Given the description of an element on the screen output the (x, y) to click on. 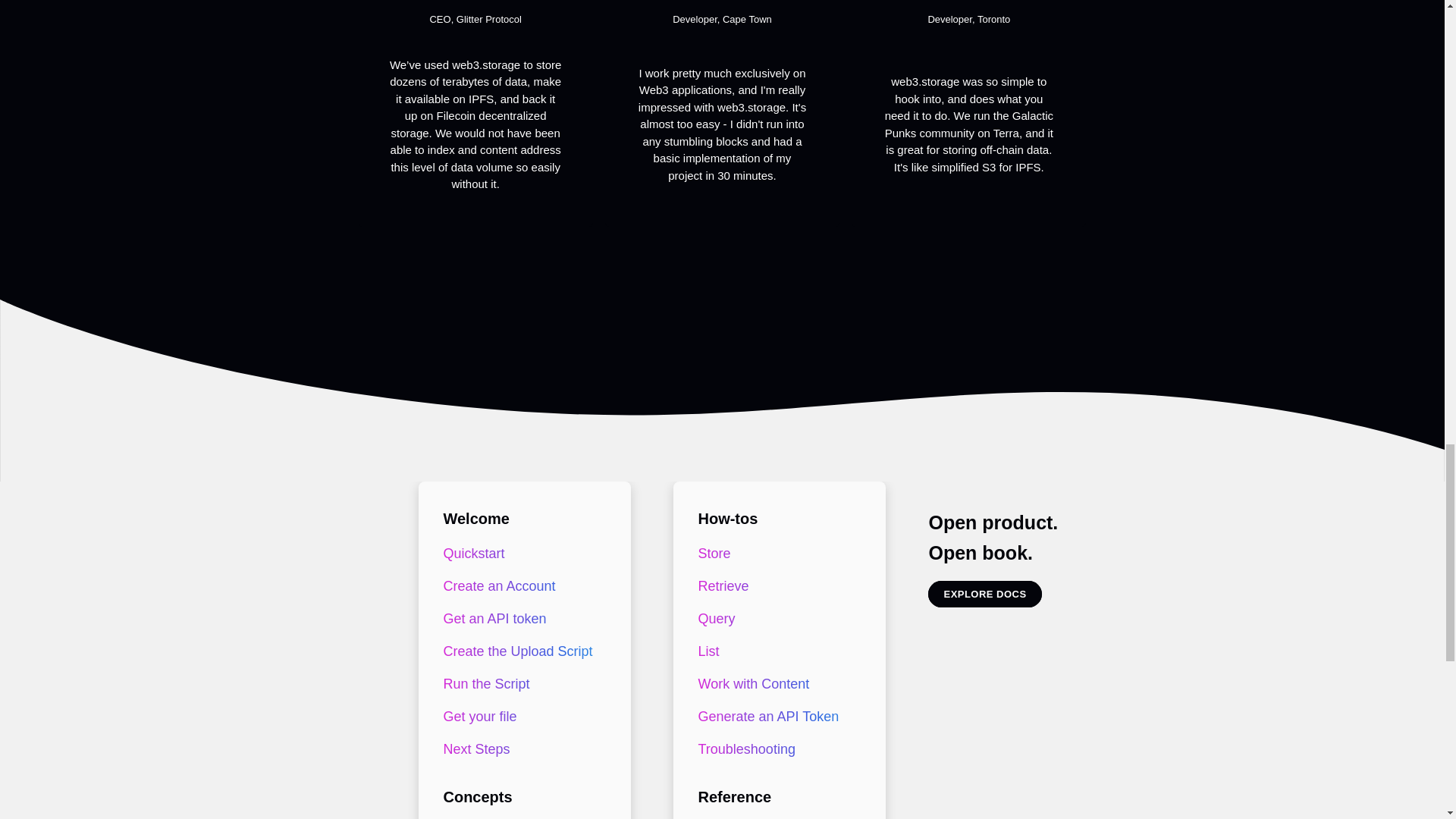
Run the Script (520, 684)
Create the Upload Script (520, 651)
Next Steps (520, 749)
Quickstart (520, 553)
Get your file (520, 717)
Create an Account (520, 586)
Content Addressing (520, 817)
Get an API token (520, 618)
